Given the description of an element on the screen output the (x, y) to click on. 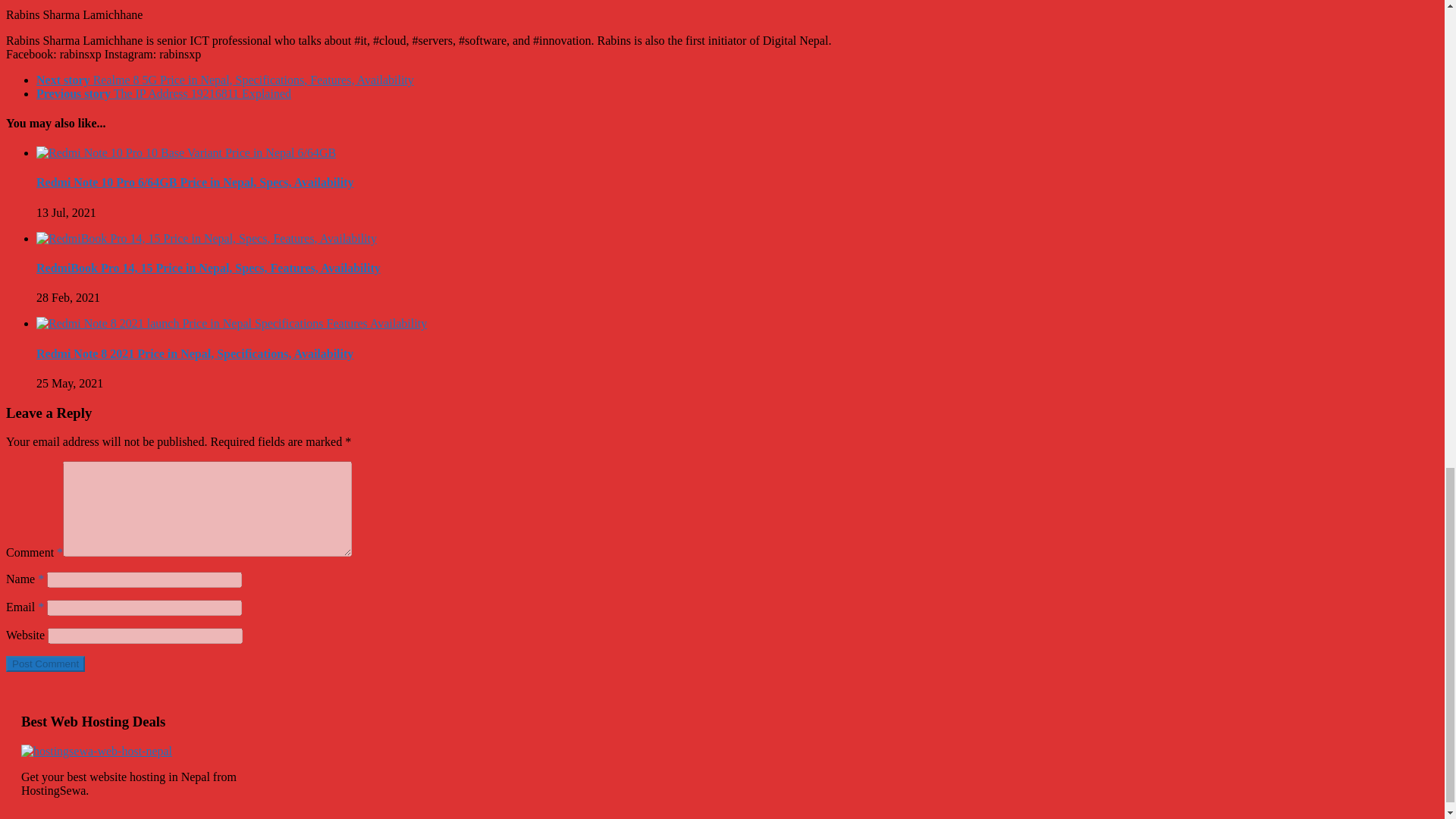
Previous story The IP Address 19216811 Explained (163, 92)
Post Comment (44, 663)
Post Comment (44, 663)
